Given the description of an element on the screen output the (x, y) to click on. 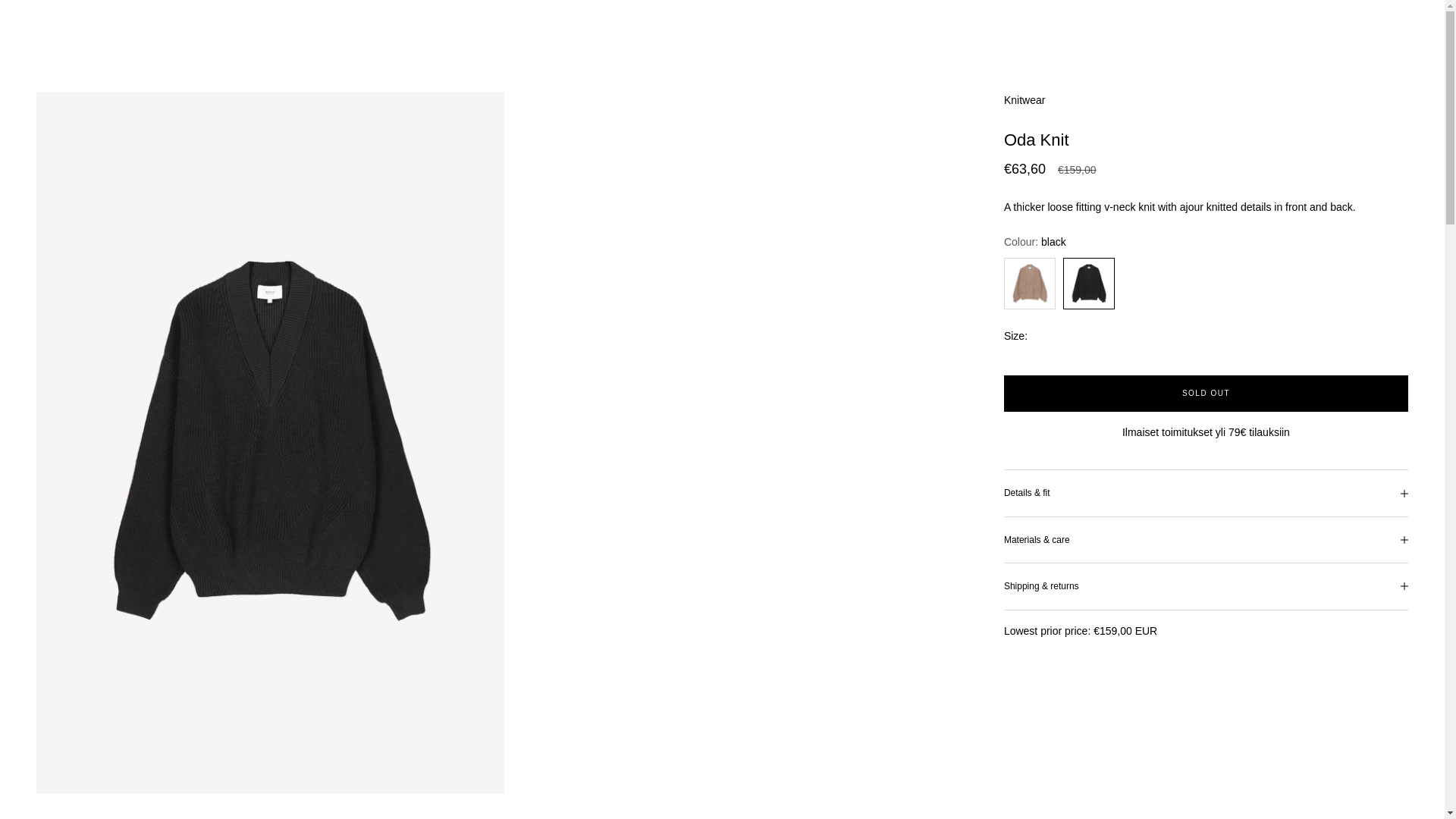
sand (1029, 283)
BRAND (1204, 27)
Makia (721, 27)
KIDS (246, 27)
ACCESSORIES (186, 27)
Knitwear (1024, 100)
WOMEN (82, 27)
LOGBOOK (1256, 27)
Open search (1375, 27)
